Given the description of an element on the screen output the (x, y) to click on. 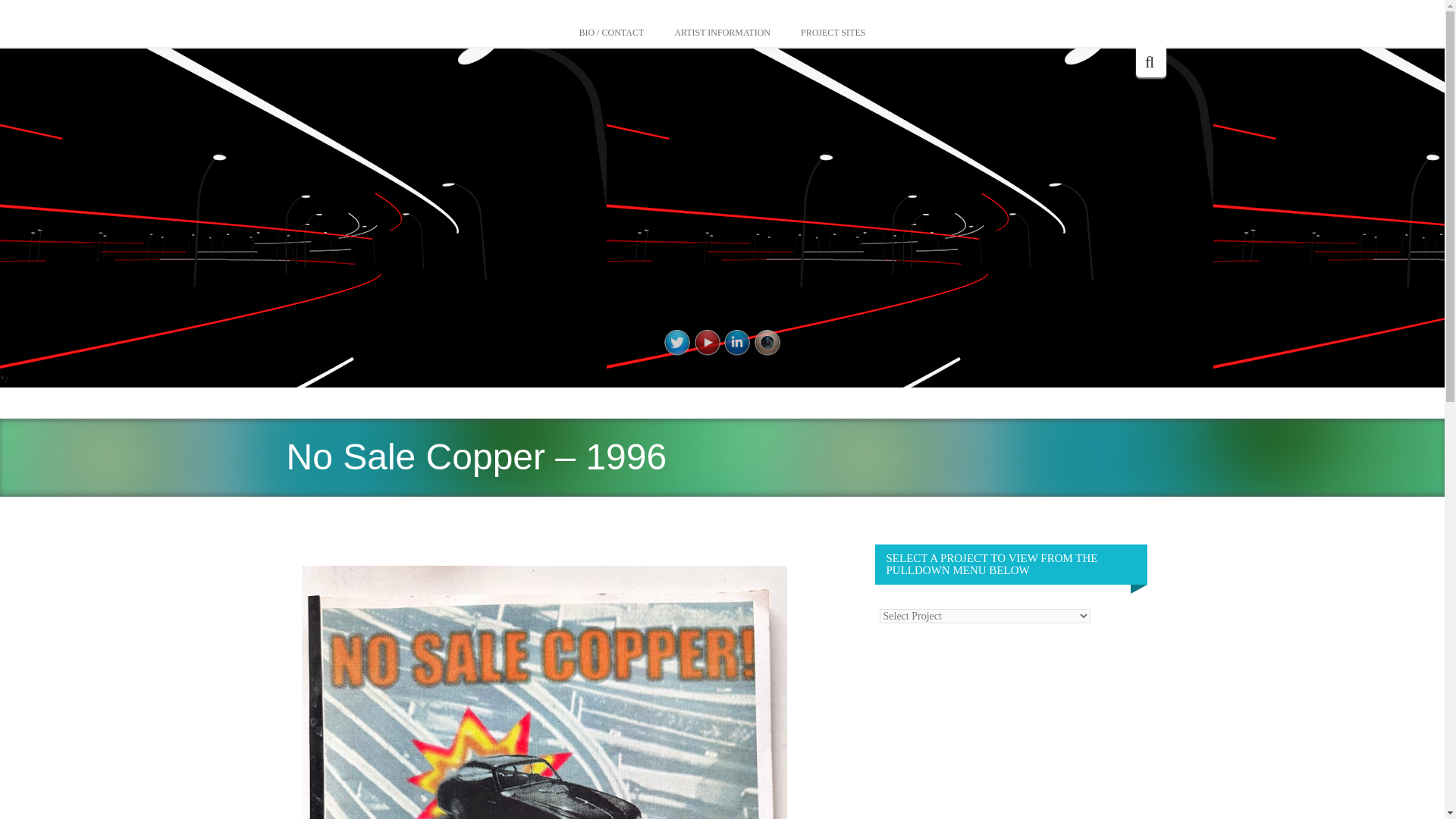
ARTIST INFORMATION (722, 32)
PROJECT SITES (833, 32)
